Given the description of an element on the screen output the (x, y) to click on. 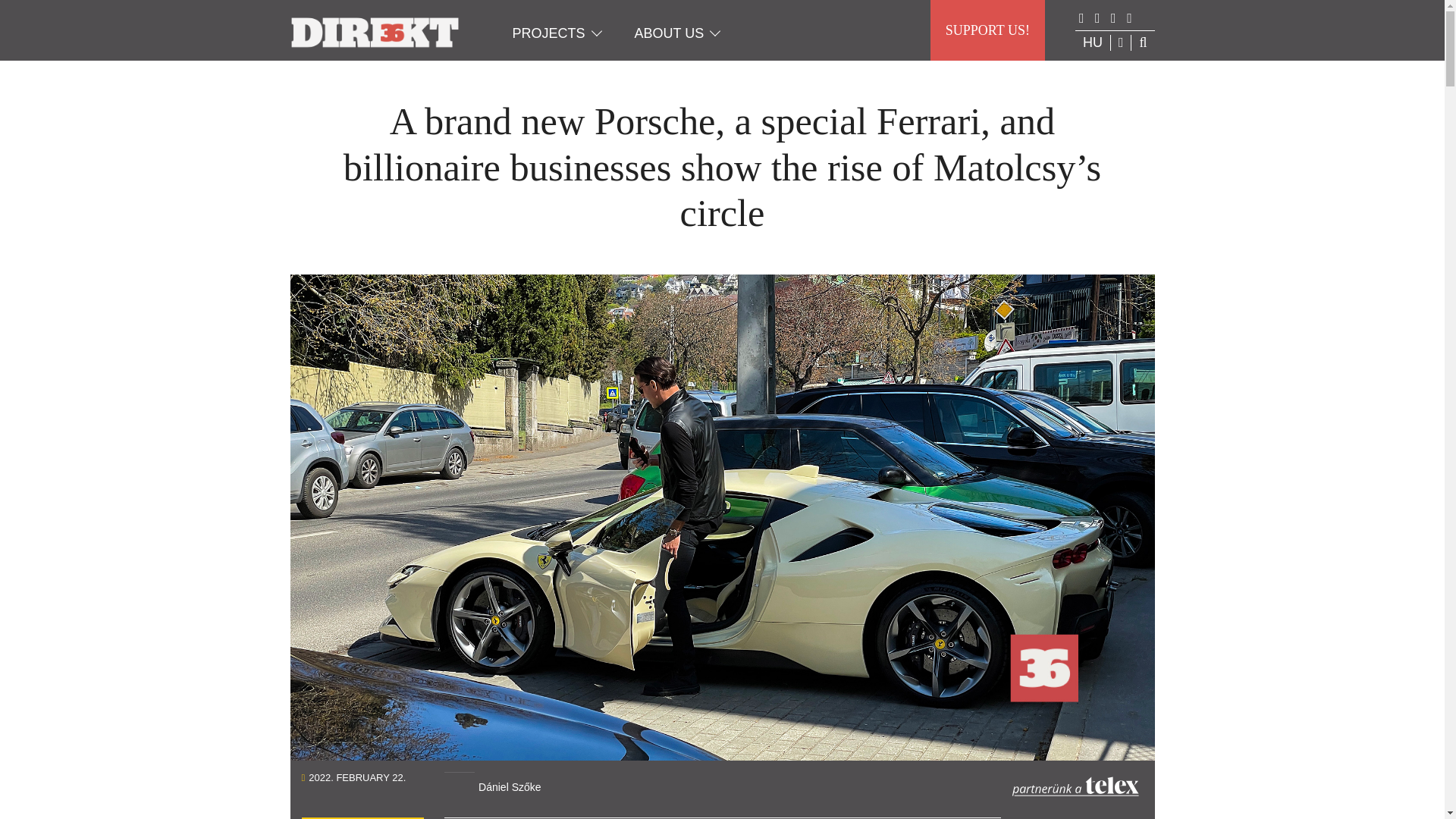
HU (1092, 42)
ADVISORS OF THE STATE (362, 818)
SUPPORT US! (986, 29)
ABOUT US (668, 33)
PROJECTS (548, 33)
